Given the description of an element on the screen output the (x, y) to click on. 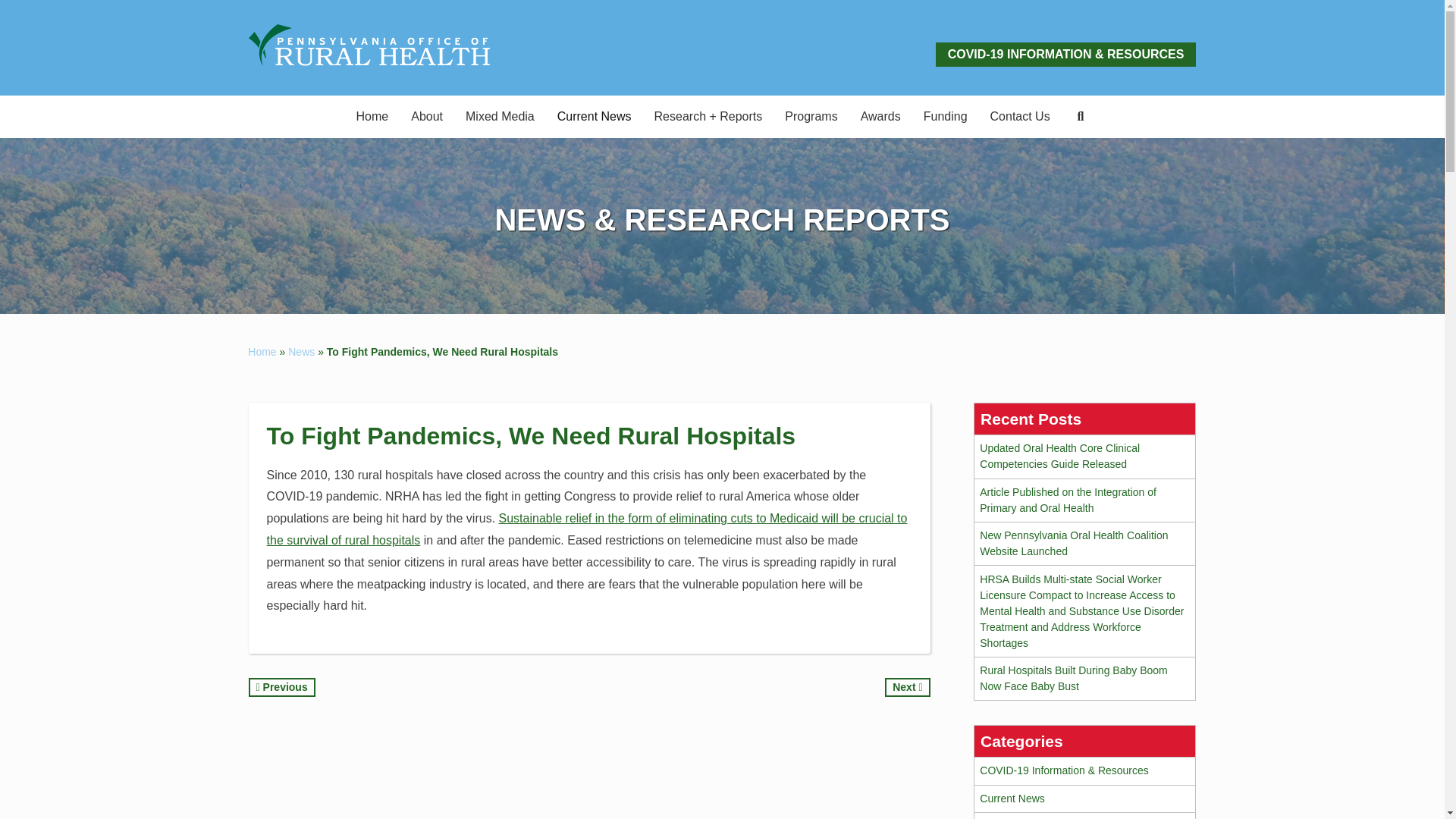
Current News (594, 116)
Home (372, 116)
About (426, 116)
Mixed Media (500, 116)
Programs (810, 116)
